Given the description of an element on the screen output the (x, y) to click on. 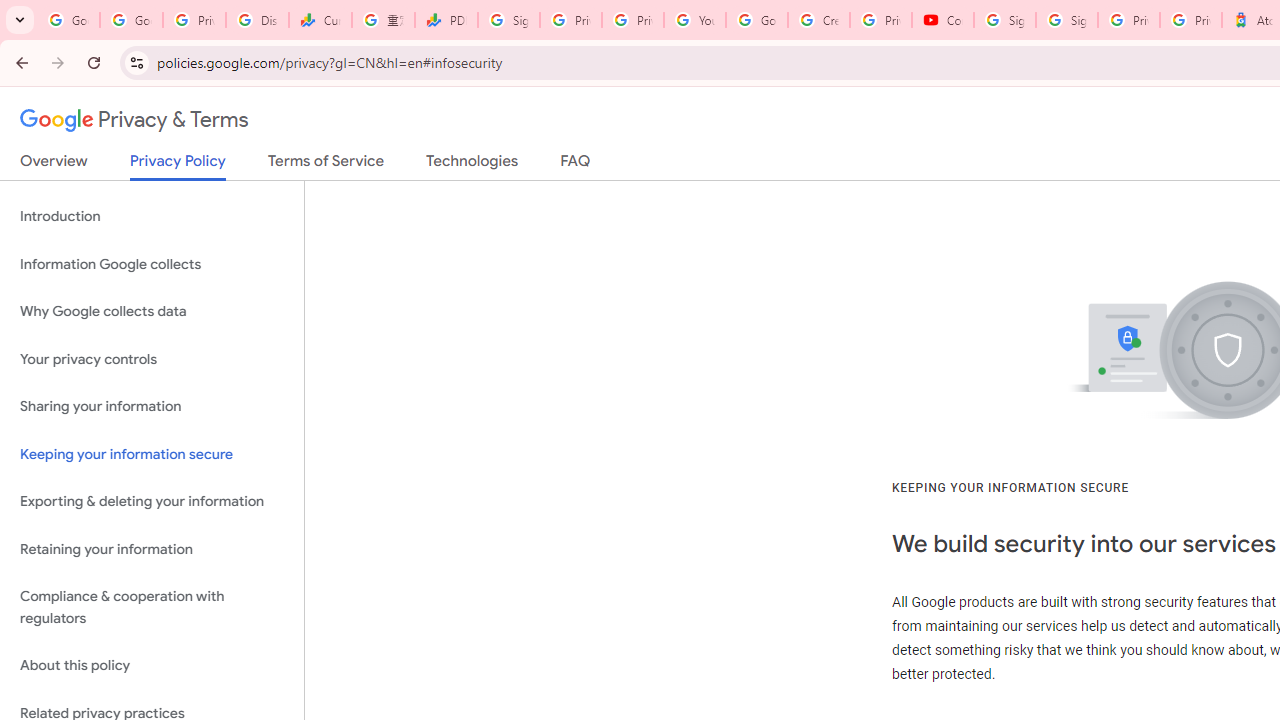
Create your Google Account (818, 20)
Sign in - Google Accounts (1004, 20)
About this policy (152, 666)
Sharing your information (152, 407)
Google Workspace Admin Community (68, 20)
Exporting & deleting your information (152, 502)
Google Account Help (756, 20)
Your privacy controls (152, 358)
